Given the description of an element on the screen output the (x, y) to click on. 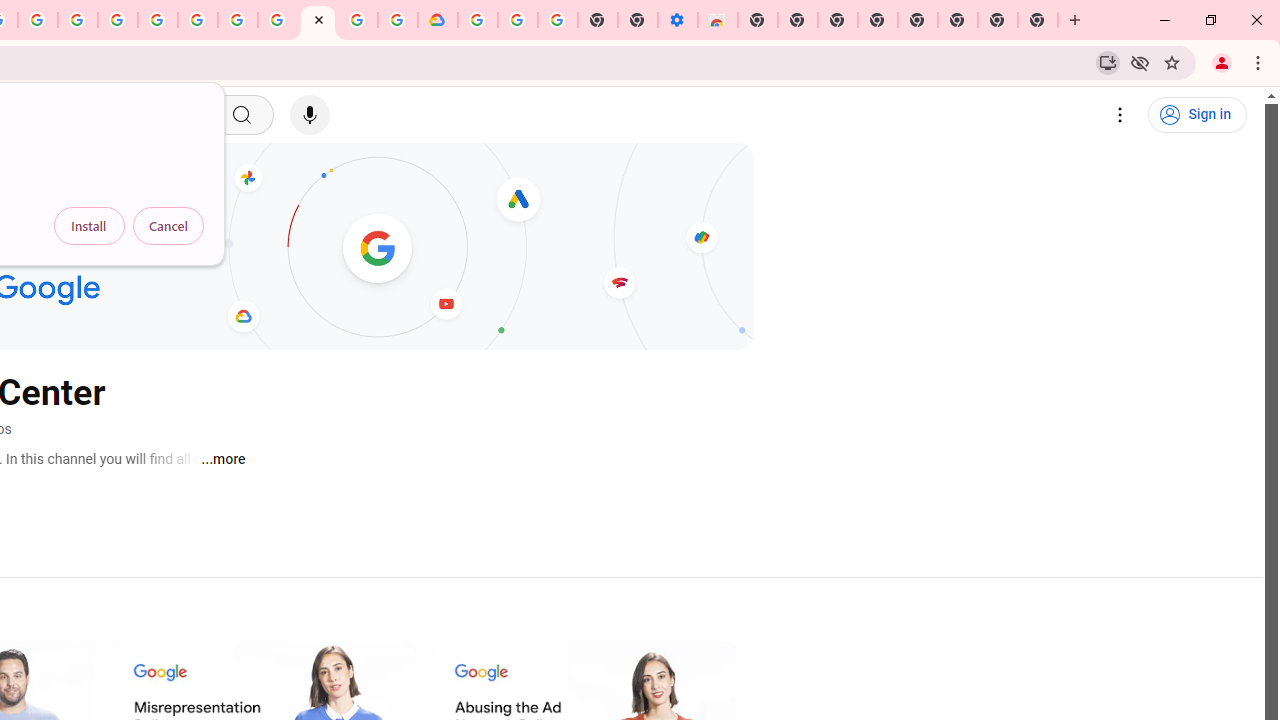
New Tab (758, 20)
Google Transparency Center - YouTube (317, 20)
Ad Settings (118, 20)
Sign in - Google Accounts (157, 20)
Android TV Policies and Guidelines - Transparency Center (278, 20)
Settings (1119, 115)
Cancel (168, 225)
Settings - Accessibility (677, 20)
Google Account Help (237, 20)
Install (89, 225)
Create your Google Account (357, 20)
